Given the description of an element on the screen output the (x, y) to click on. 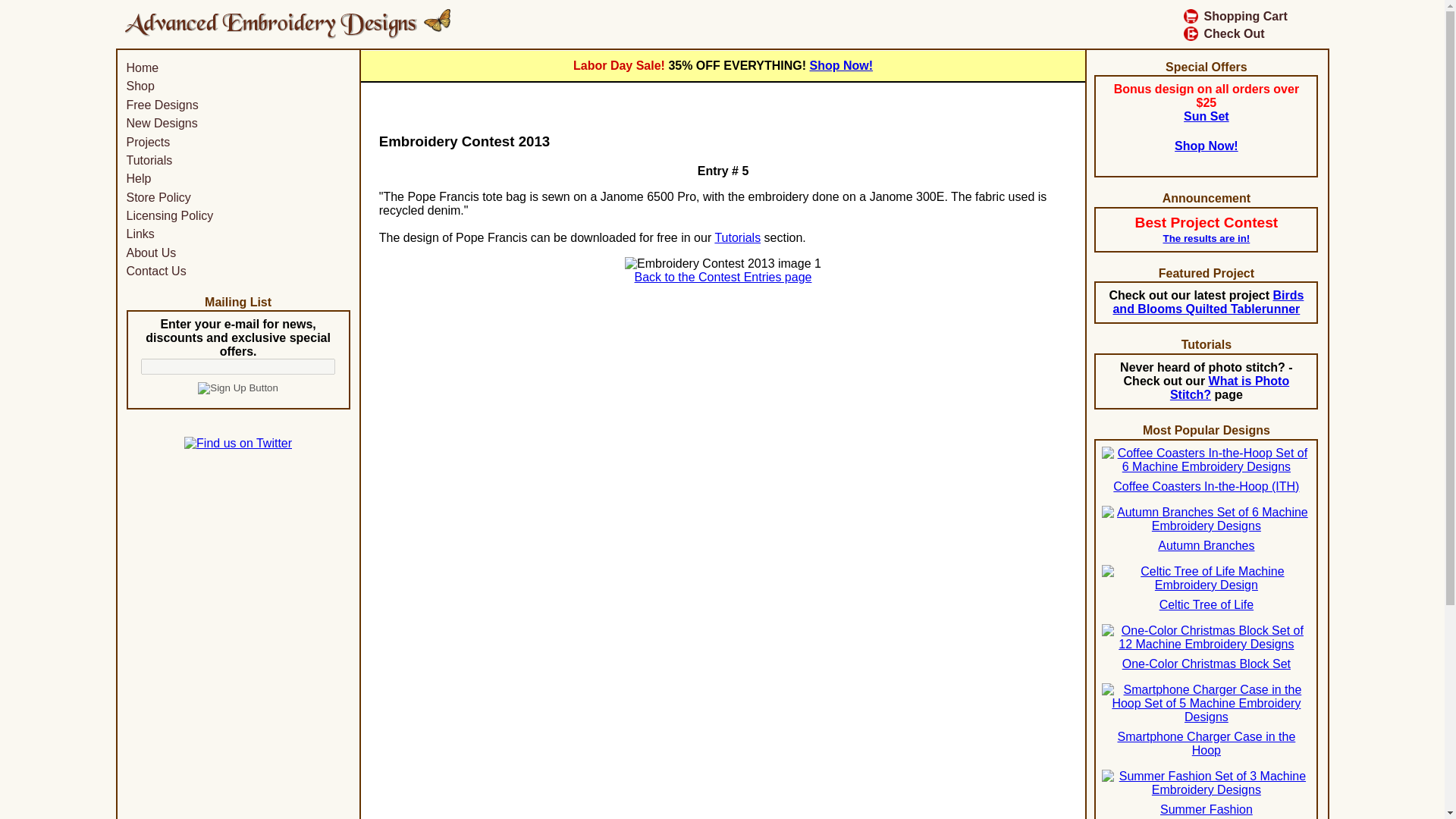
Store Policy (157, 197)
About Us (150, 252)
Shop (139, 85)
Help (138, 178)
Contact Us (155, 271)
Pin on Pinterest (485, 111)
Tutorials (148, 159)
Free Designs (161, 104)
Licensing Policy (168, 215)
Tutorials (737, 237)
